Given the description of an element on the screen output the (x, y) to click on. 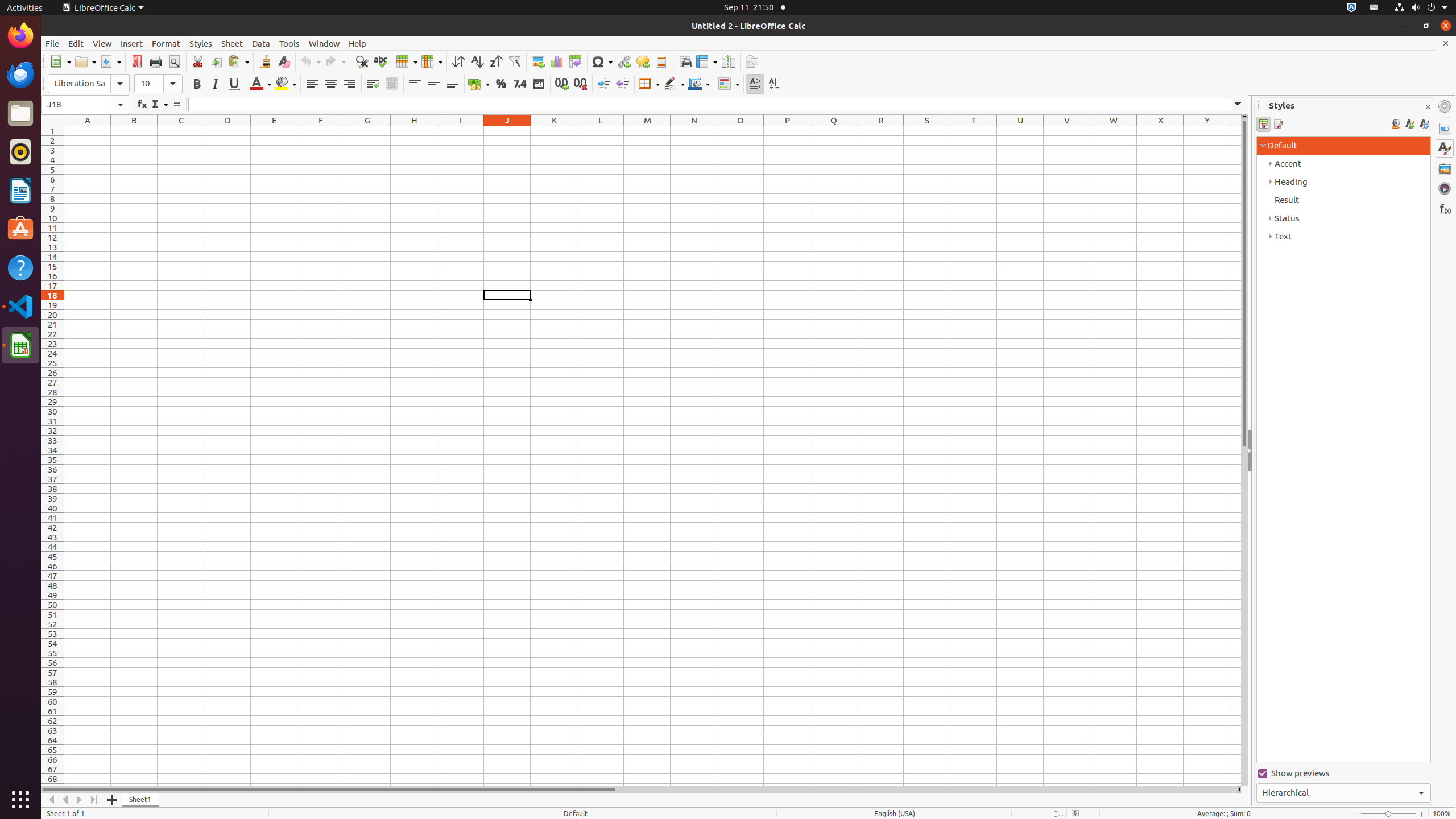
Edit Element type: menu (75, 43)
Sort Element type: push-button (457, 61)
Format Element type: menu (165, 43)
Show previews Element type: check-box (1343, 773)
S1 Element type: table-cell (926, 130)
